Given the description of an element on the screen output the (x, y) to click on. 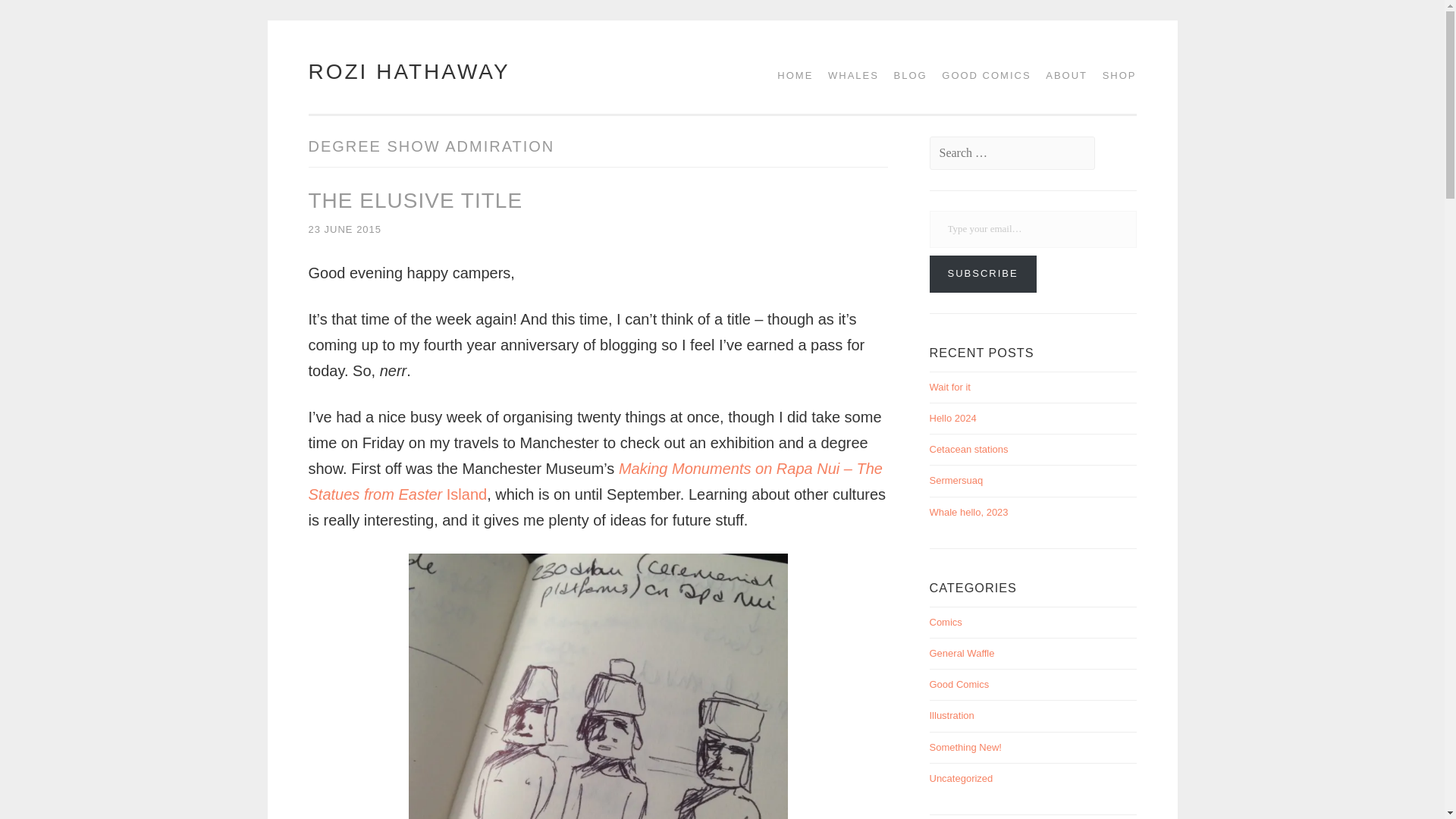
Island (464, 494)
SUBSCRIBE (983, 273)
Comics (946, 622)
ABOUT (1061, 75)
Sermersuaq (957, 480)
Something New! (965, 747)
23 JUNE 2015 (344, 229)
ROZI HATHAWAY (408, 71)
THE ELUSIVE TITLE (414, 200)
Search (42, 16)
